Given the description of an element on the screen output the (x, y) to click on. 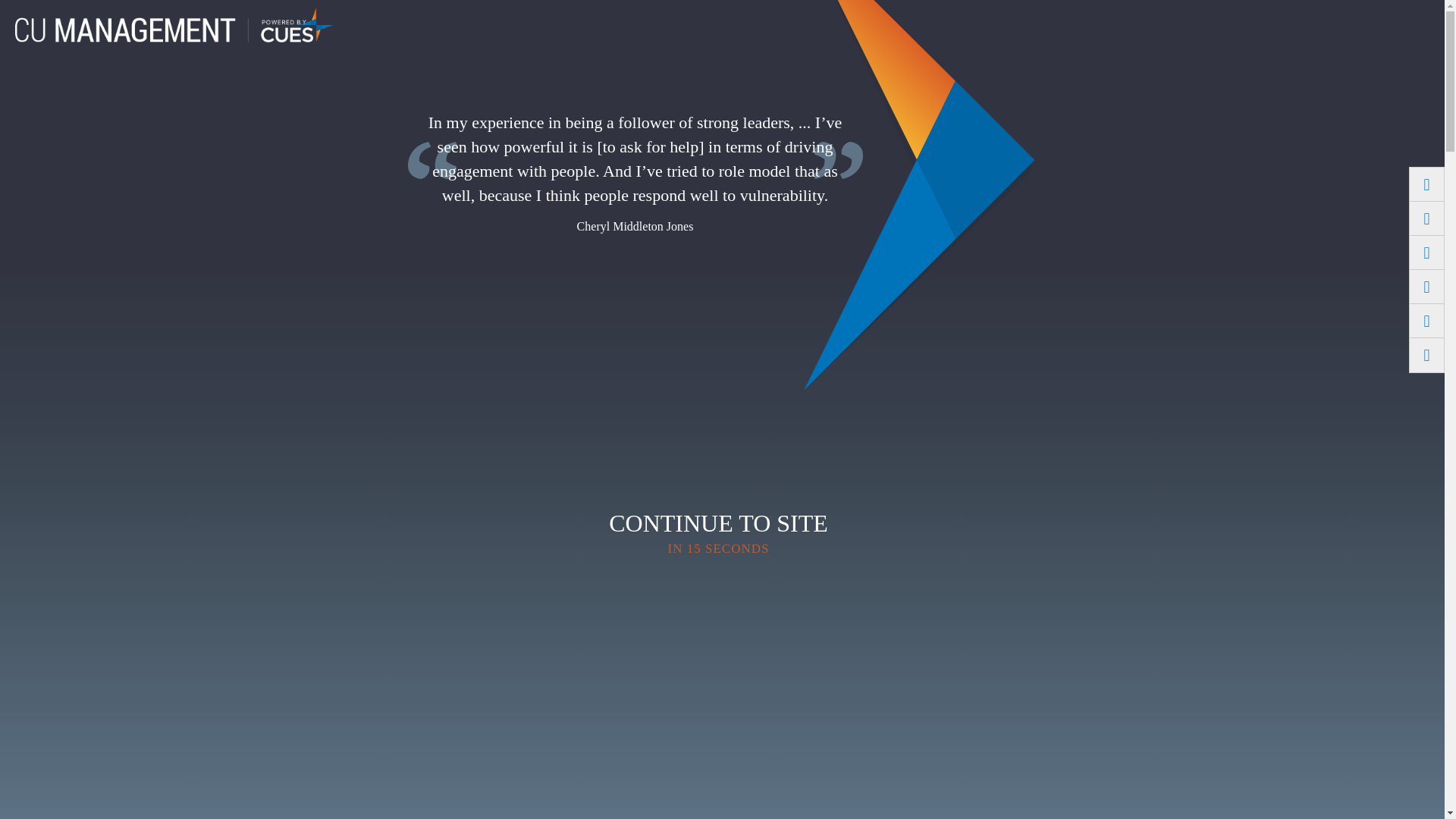
LEADERSHIP (417, 85)
WHITEPAPERS (1135, 47)
More content topics from CU Management (1082, 85)
BLOGS (887, 47)
PODCASTS (965, 47)
VIEW MAGAZINE (1013, 12)
STRATEGY (323, 85)
GOVERNANCE (523, 85)
ARTICLES (810, 47)
